Given the description of an element on the screen output the (x, y) to click on. 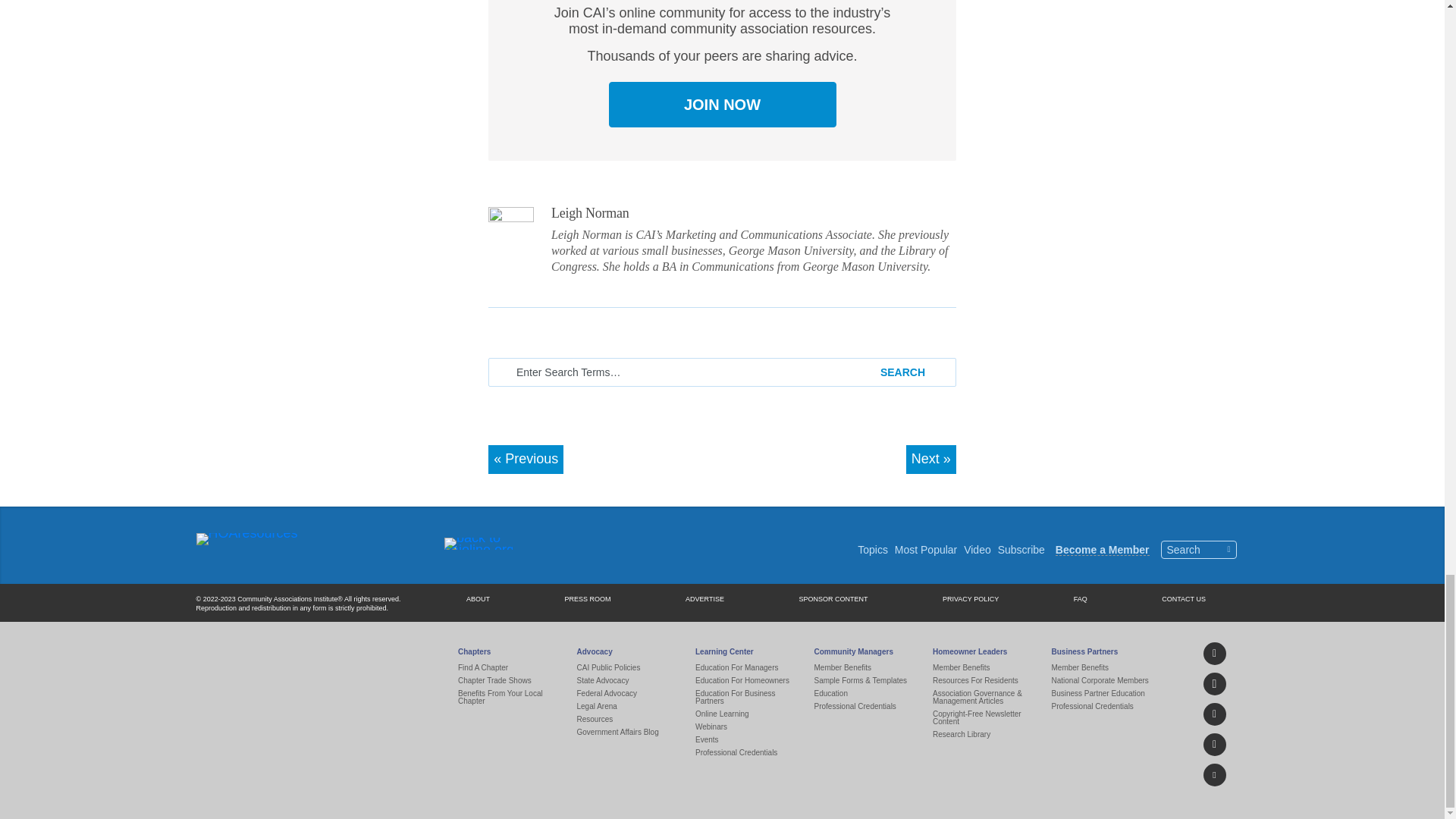
Search (910, 371)
Search (910, 371)
JOIN NOW (721, 104)
